Given the description of an element on the screen output the (x, y) to click on. 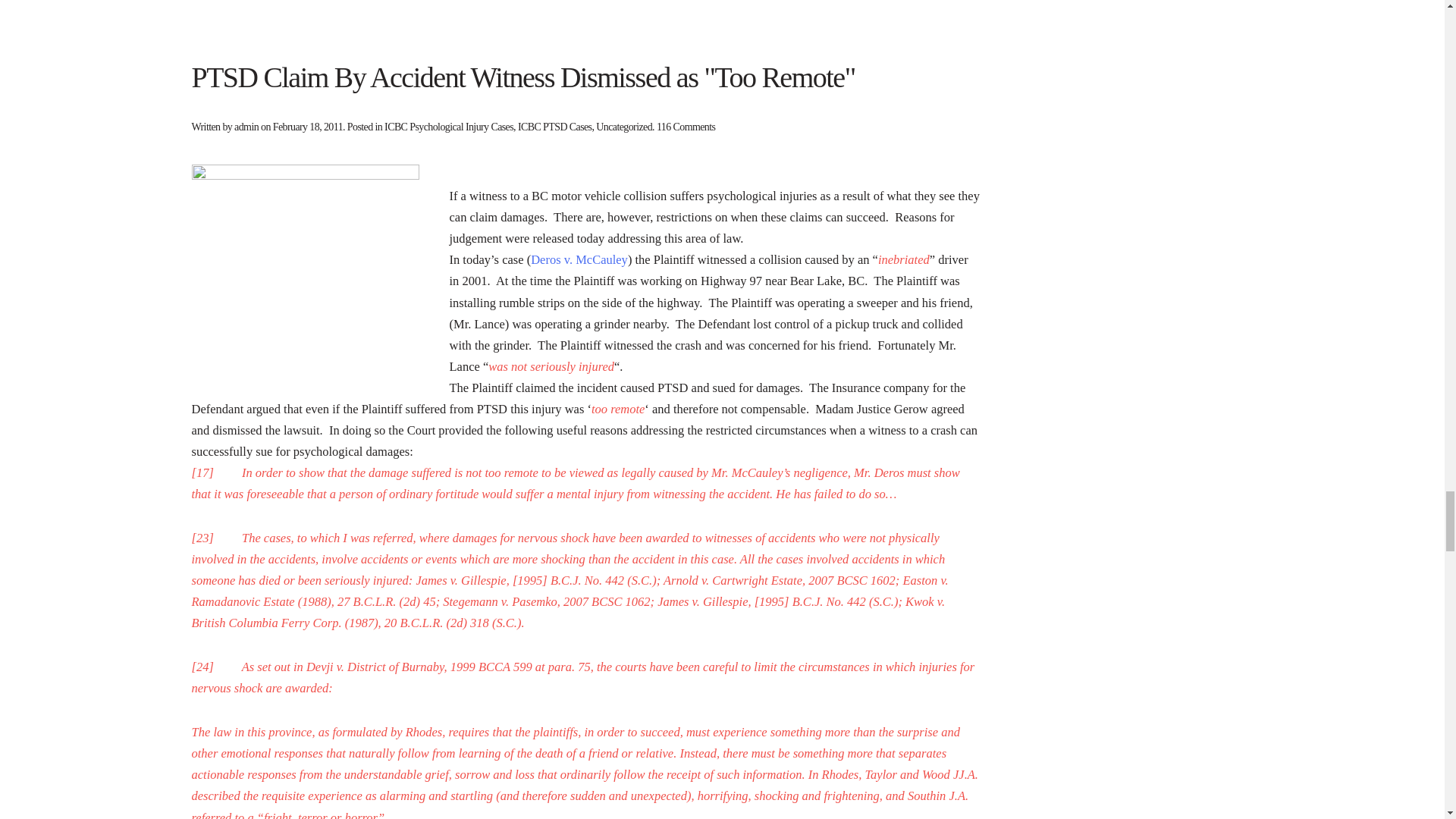
bc-injury-law-psychological-injury-by-witness-to-crash (304, 278)
